Given the description of an element on the screen output the (x, y) to click on. 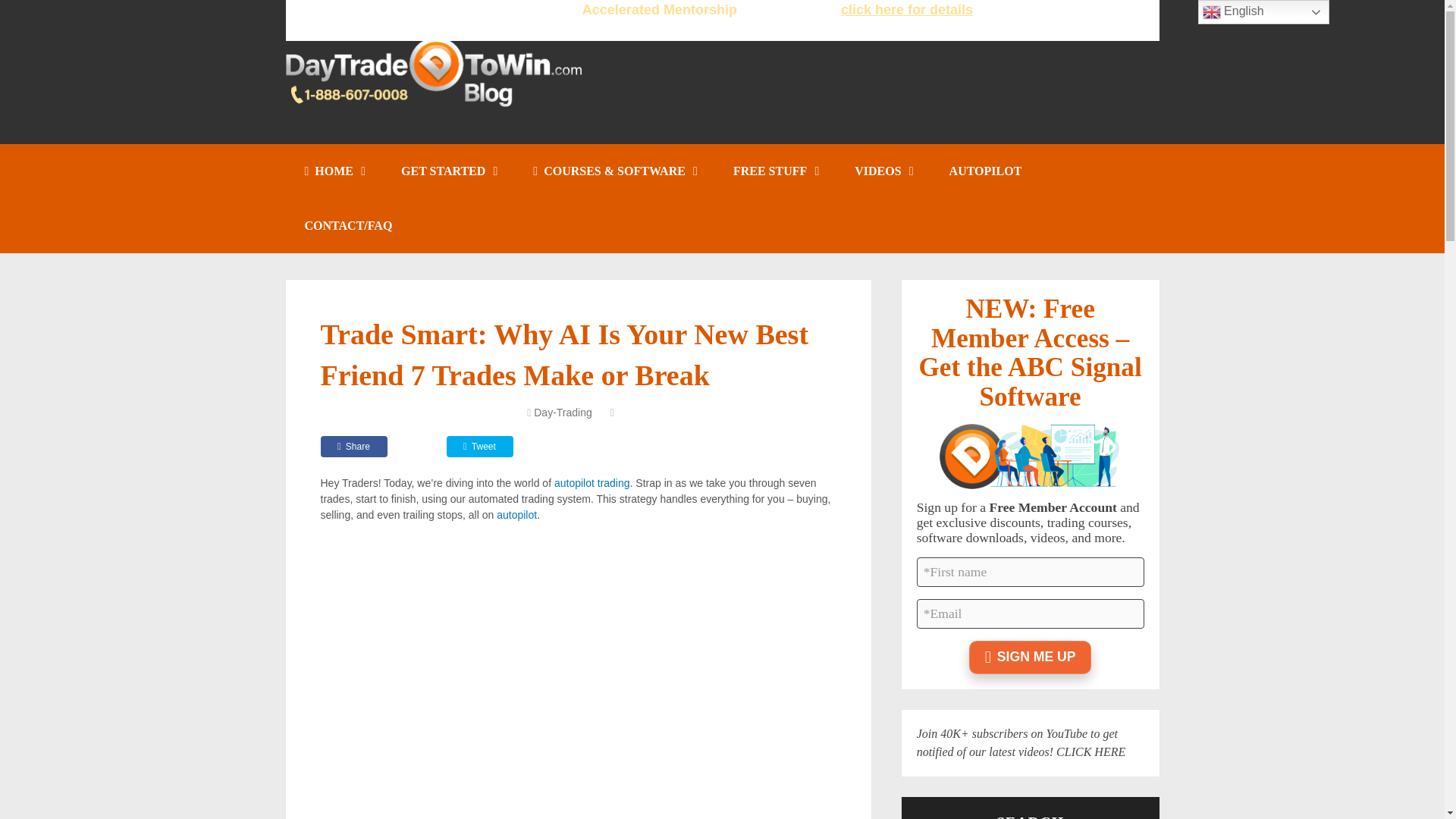
VIDEOS (882, 171)
AUTOPILOT (985, 171)
click here for details (906, 9)
Posts by Day-Trading (563, 412)
GET STARTED (447, 171)
FREE STUFF (774, 171)
HOME (333, 171)
